Given the description of an element on the screen output the (x, y) to click on. 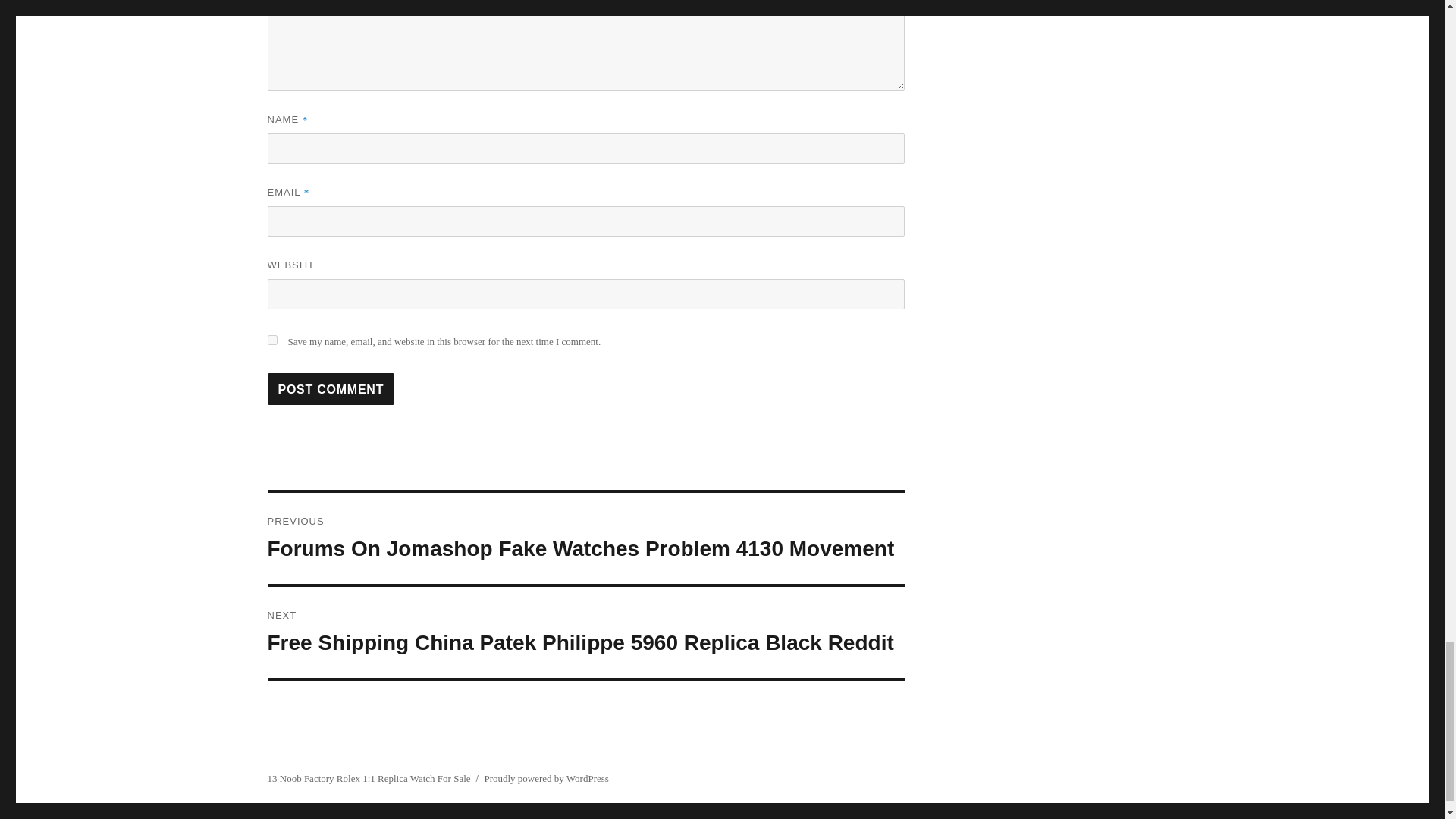
Post Comment (330, 388)
yes (271, 339)
Post Comment (330, 388)
